Given the description of an element on the screen output the (x, y) to click on. 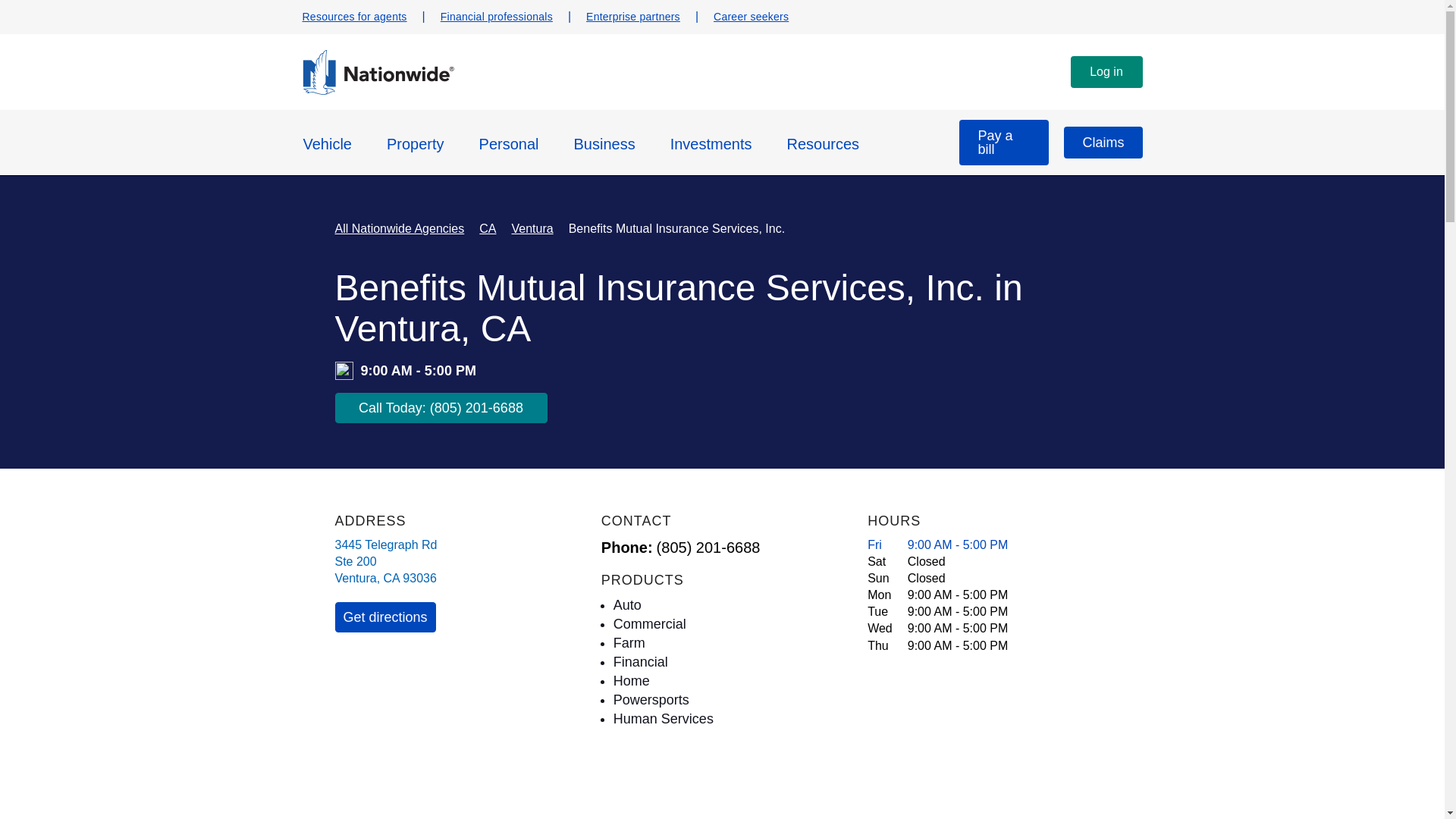
Enterprise partners (632, 17)
Financial professionals (497, 17)
Log in (1105, 71)
Link to Nationwide main website (376, 90)
Career seekers (751, 17)
Pay a bill (1003, 142)
Resources for agents (353, 17)
California (391, 577)
Claims (1102, 142)
